Given the description of an element on the screen output the (x, y) to click on. 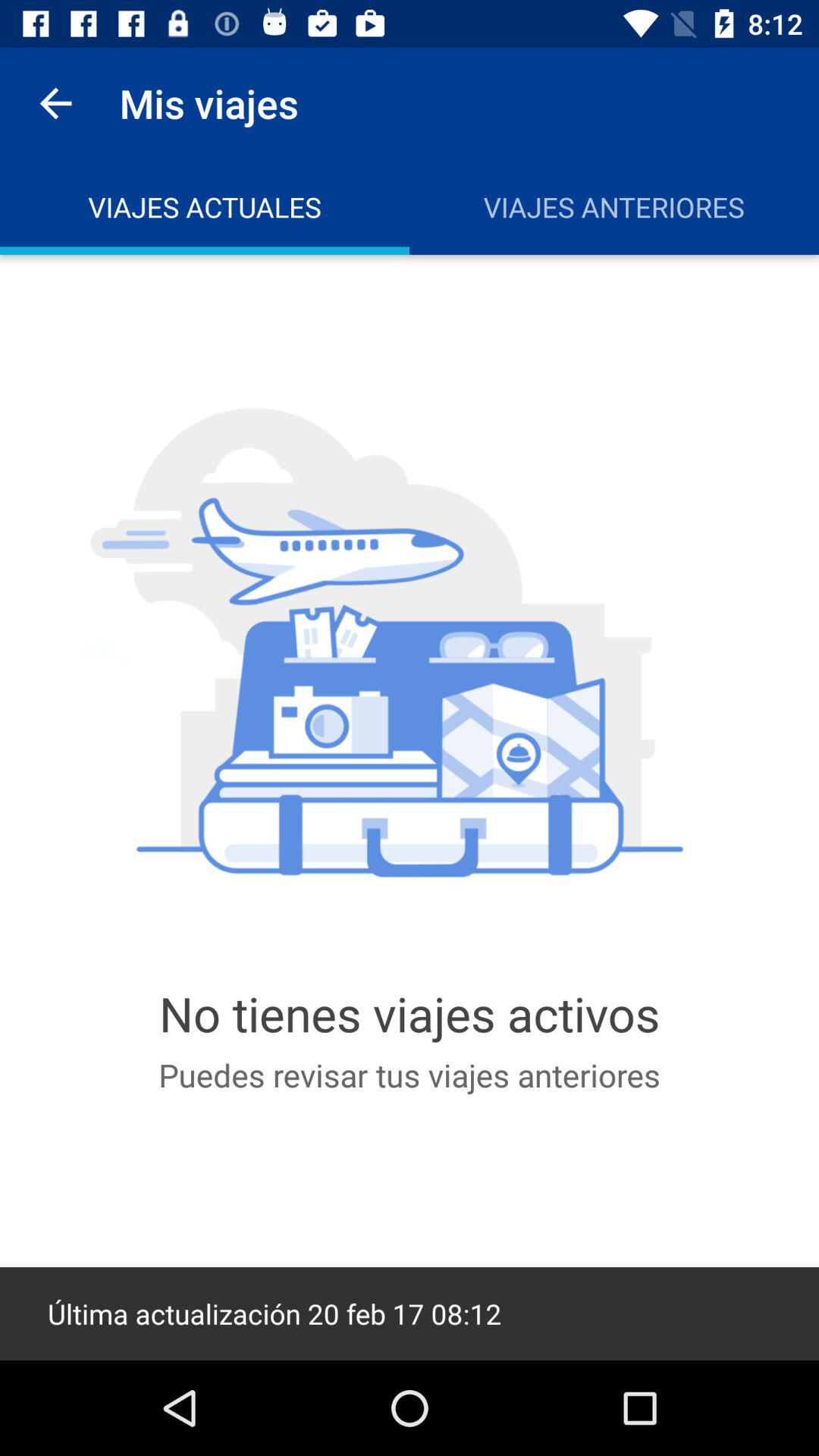
tap item above the viajes actuales item (55, 103)
